Given the description of an element on the screen output the (x, y) to click on. 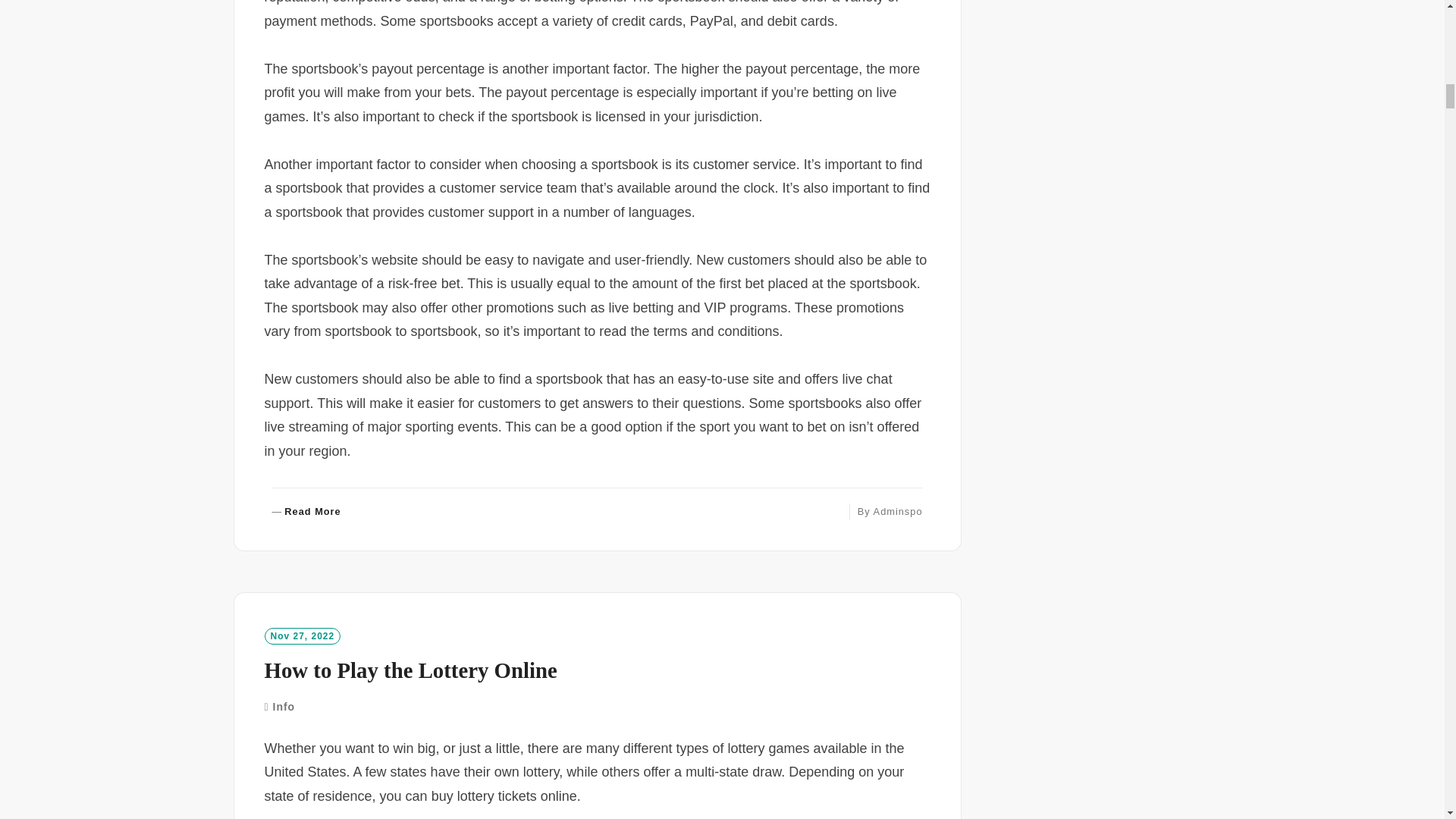
How to Play the Lottery Online (409, 670)
Nov 27, 2022 (305, 512)
Adminspo (301, 636)
Info (898, 511)
